Given the description of an element on the screen output the (x, y) to click on. 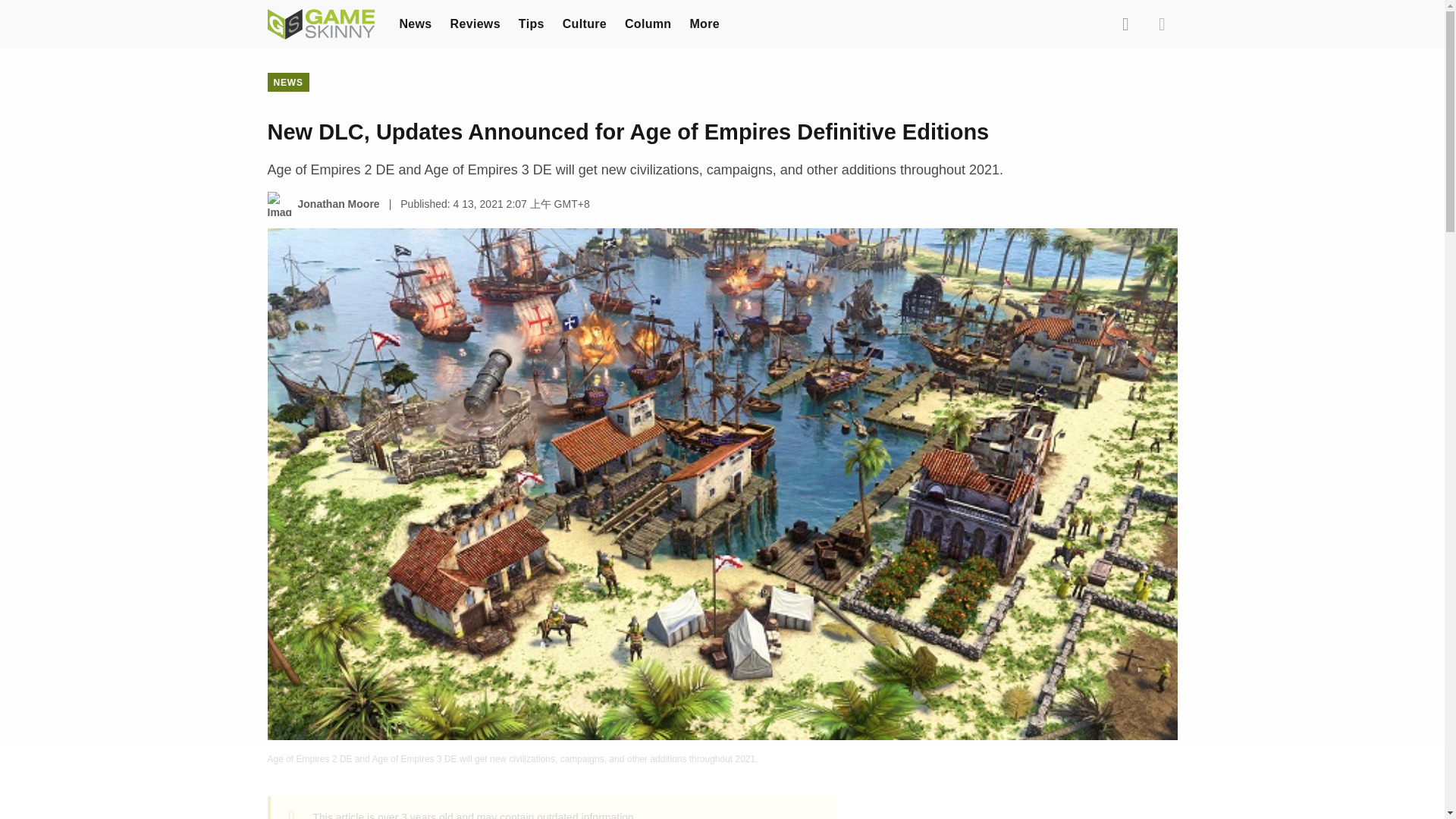
3rd party ad content (721, 785)
Search (1124, 24)
NEWS (287, 81)
3rd party ad content (1024, 807)
News (414, 23)
Reviews (474, 23)
Dark Mode (1161, 24)
Tips (531, 23)
Column (647, 23)
Culture (584, 23)
